Given the description of an element on the screen output the (x, y) to click on. 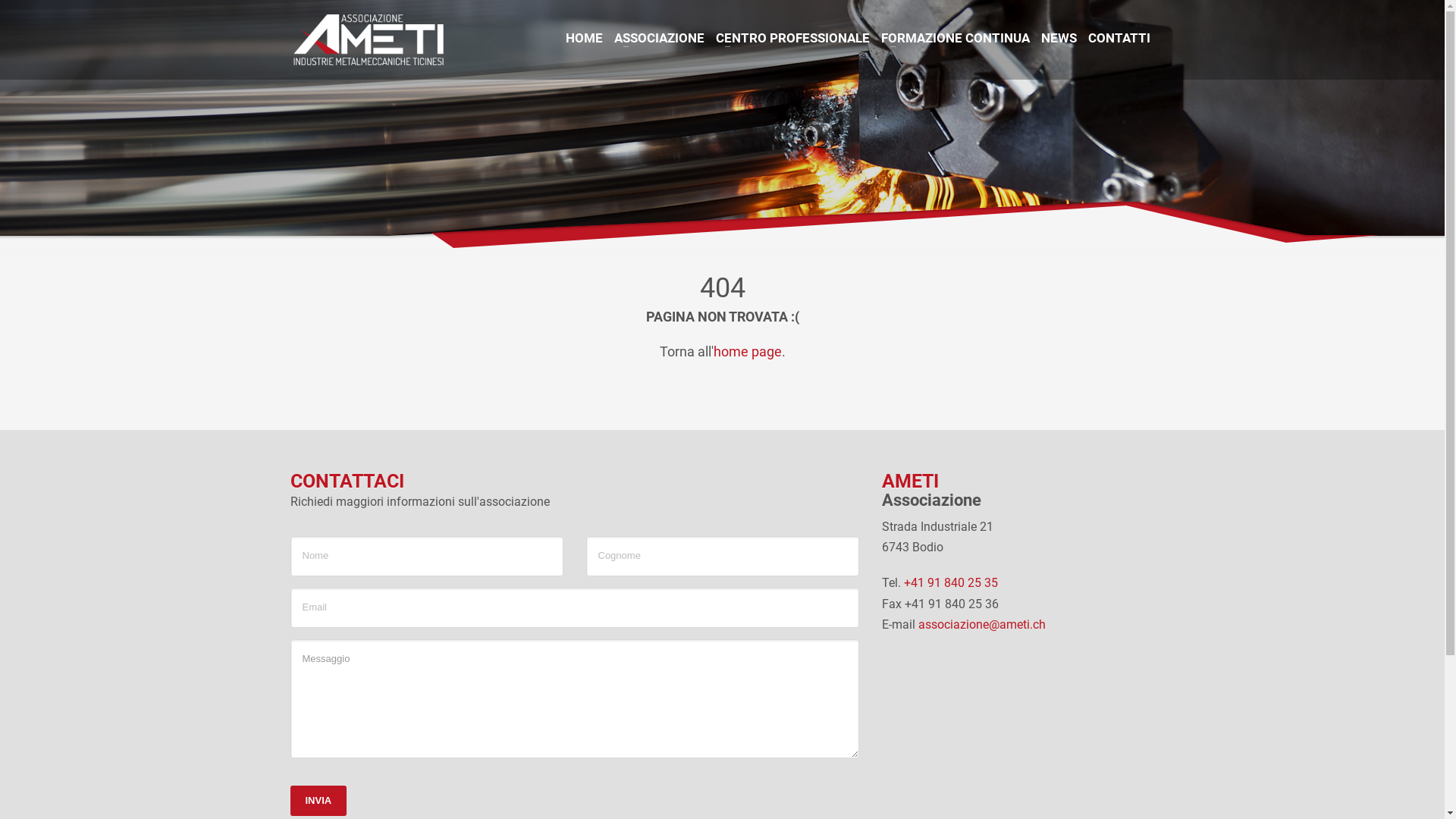
+41 91 840 25 35 Element type: text (950, 582)
ASSOCIAZIONE Element type: text (659, 37)
NEWS Element type: text (1058, 37)
INVIA Element type: text (317, 800)
CENTRO PROFESSIONALE Element type: text (792, 37)
CONTATTI Element type: text (1119, 37)
home page Element type: text (746, 351)
FORMAZIONE CONTINUA Element type: text (955, 37)
associazione@ameti.ch Element type: text (980, 624)
HOME Element type: text (583, 37)
